Given the description of an element on the screen output the (x, y) to click on. 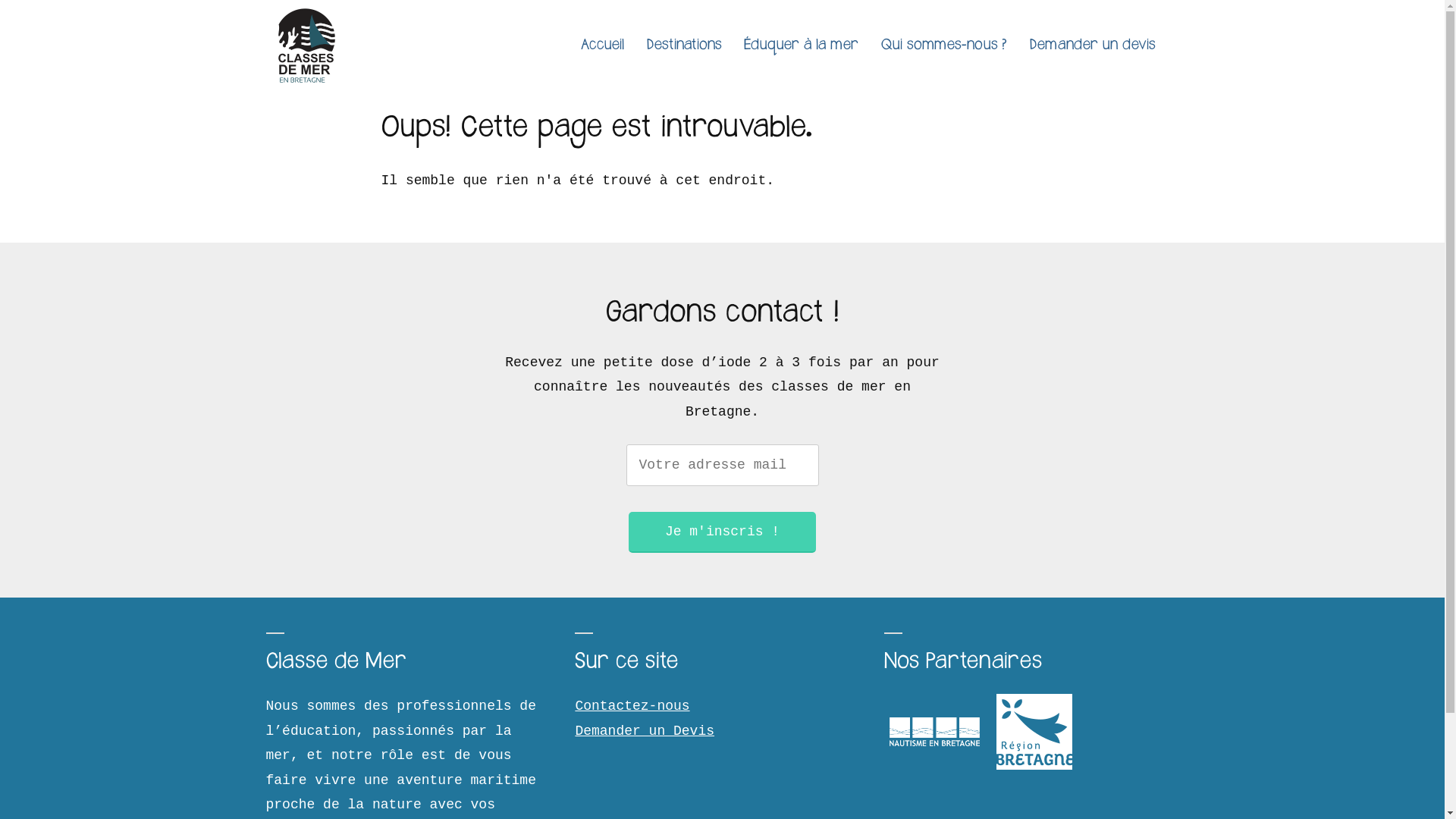
Accueil Element type: text (601, 45)
Je m'inscris ! Element type: text (721, 532)
Demander un devis Element type: text (1091, 45)
Destinations Element type: text (683, 45)
Demander un Devis Element type: text (644, 730)
Contactez-nous Element type: text (631, 705)
Qui sommes-nous ? Element type: text (943, 45)
